Given the description of an element on the screen output the (x, y) to click on. 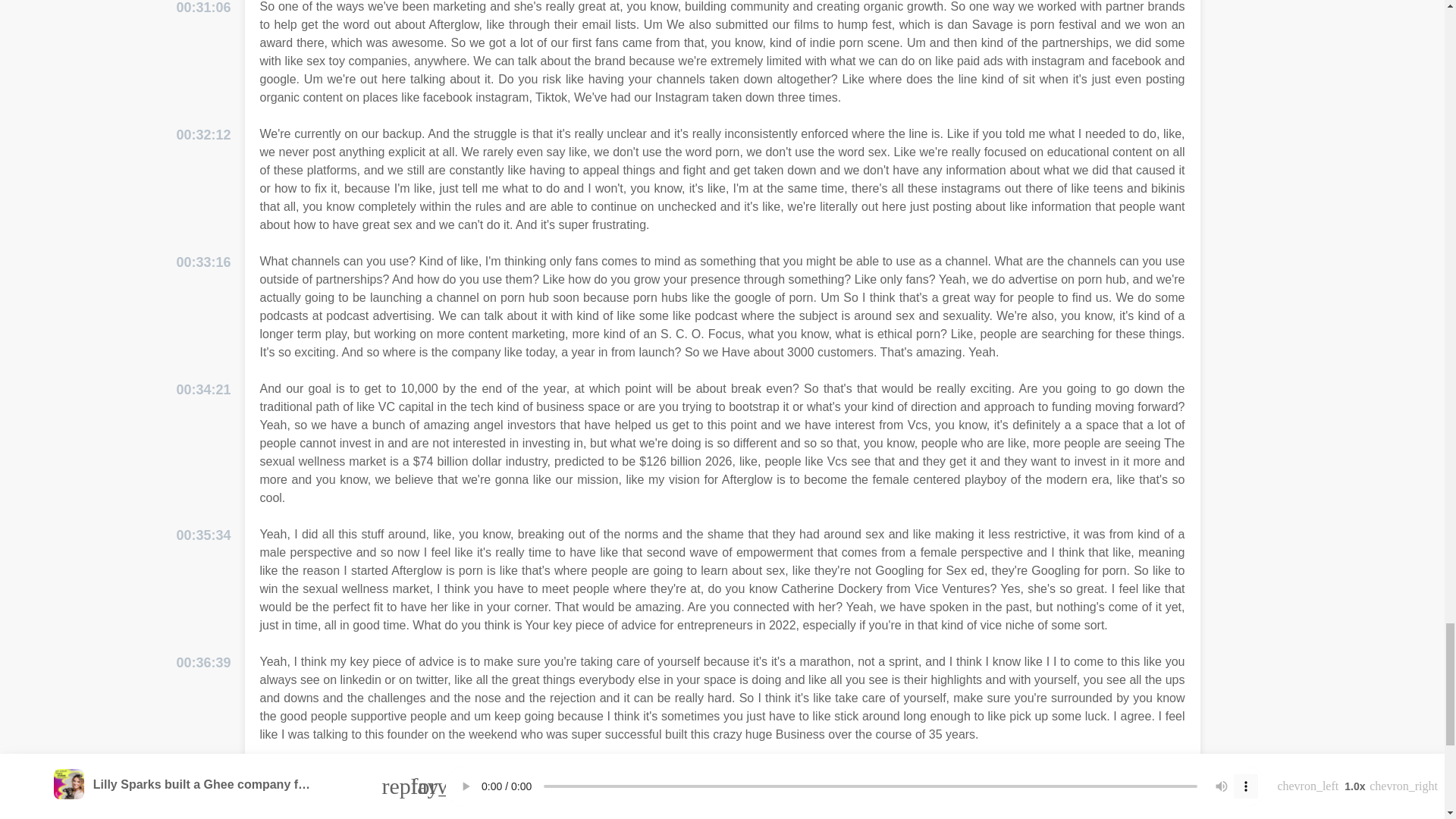
00:37:42 (203, 772)
00:31:06 (203, 9)
00:34:21 (203, 390)
00:32:12 (203, 135)
00:35:34 (203, 535)
00:33:16 (203, 262)
00:36:39 (203, 662)
